Given the description of an element on the screen output the (x, y) to click on. 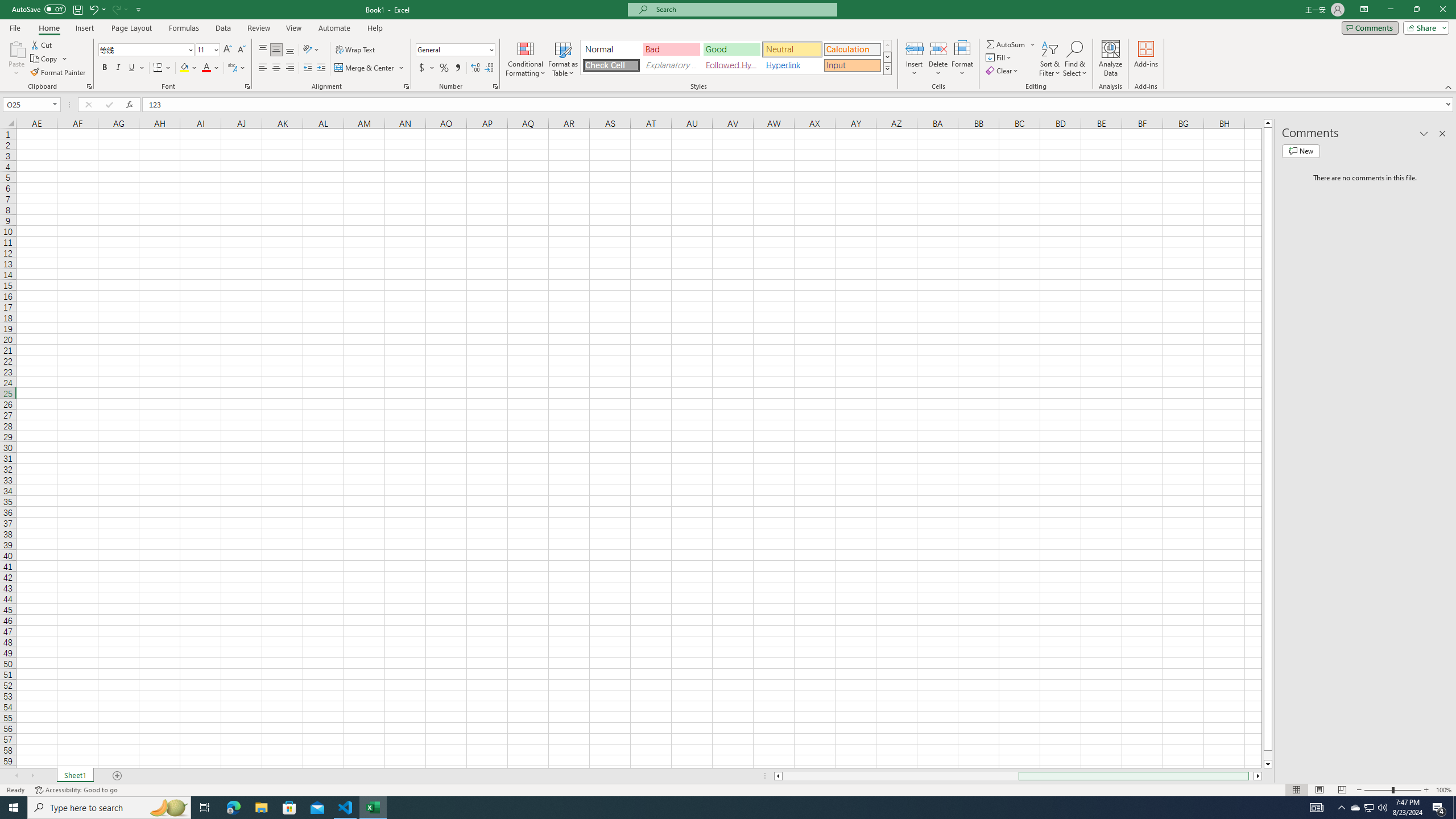
Fill Color (188, 67)
Orientation (311, 49)
Increase Indent (320, 67)
Format Cell Alignment (405, 85)
AutomationID: CellStylesGallery (736, 57)
Hyperlink (791, 65)
Cell Styles (887, 68)
Find & Select (1075, 58)
Row up (887, 45)
Show Phonetic Field (231, 67)
Decrease Indent (307, 67)
